Given the description of an element on the screen output the (x, y) to click on. 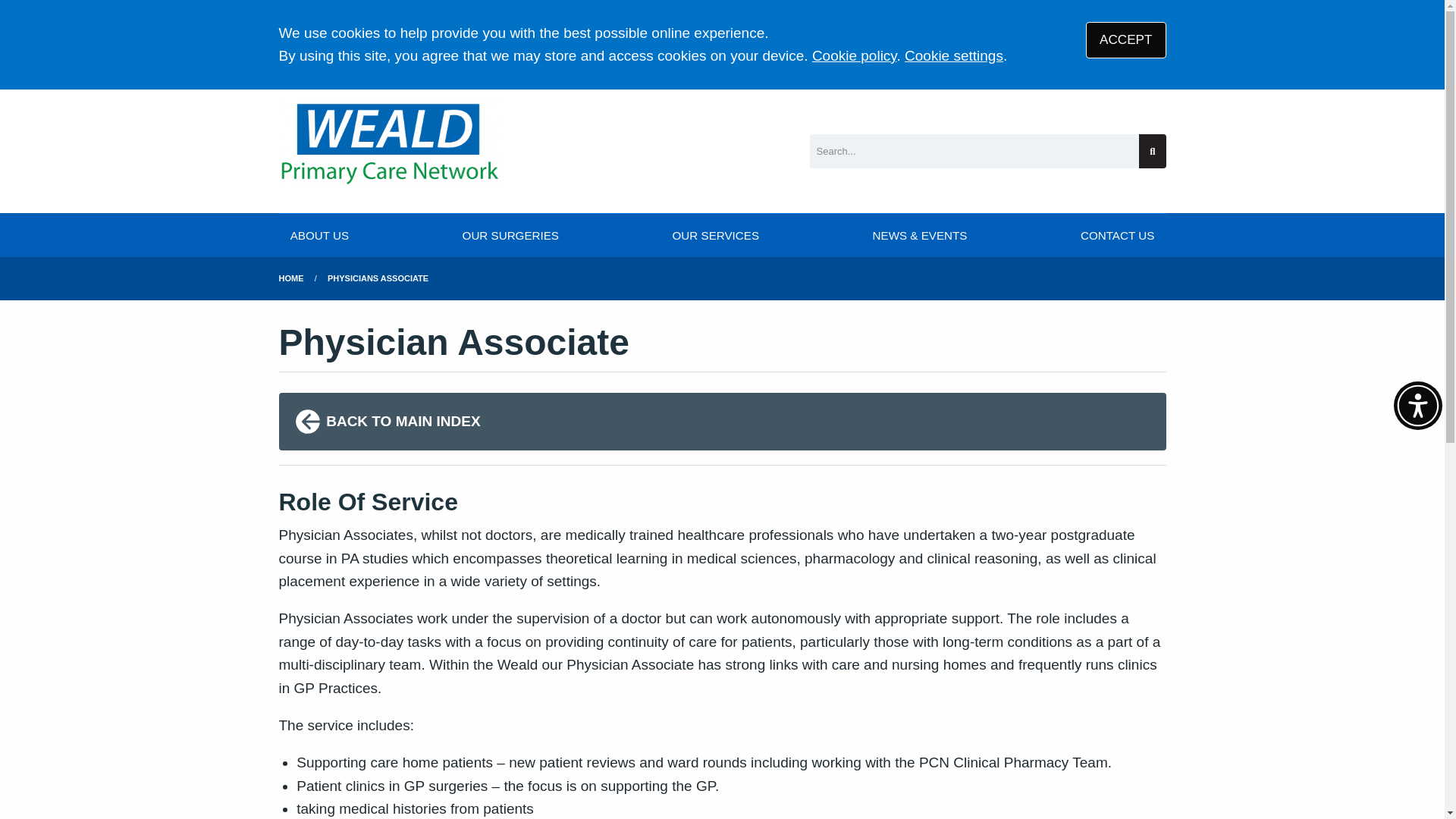
Cookie policy (854, 55)
BACK TO MAIN INDEX (722, 421)
PHYSICIANS ASSOCIATE (377, 277)
ACCEPT (1126, 39)
OUR SURGERIES (509, 235)
ABOUT US (320, 235)
OUR SERVICES (715, 235)
Accessibility Menu (1417, 405)
Cookie settings (953, 55)
CONTACT US (1117, 235)
HOME (291, 277)
